Given the description of an element on the screen output the (x, y) to click on. 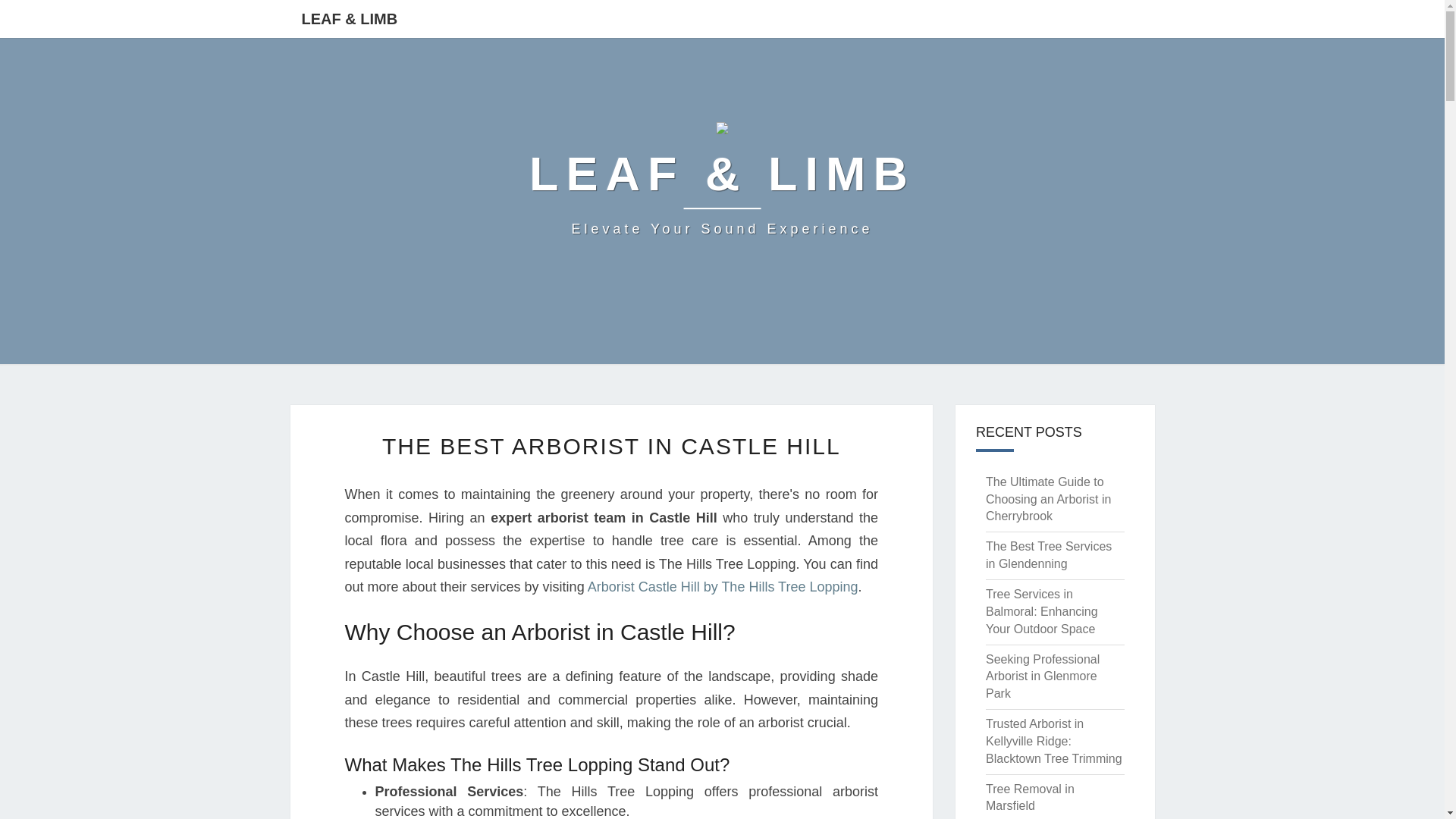
Arborist Castle Hill by The Hills Tree Lopping (723, 586)
THE BEST ARBORIST IN CASTLE HILL (611, 446)
Seeking Professional Arborist in Glenmore Park (1042, 676)
The Best Tree Services in Glendenning (1048, 554)
The Ultimate Guide to Choosing an Arborist in Cherrybrook (1047, 499)
Tree Removal in Marsfield (1029, 797)
Tree Services in Balmoral: Enhancing Your Outdoor Space (1041, 611)
